Given the description of an element on the screen output the (x, y) to click on. 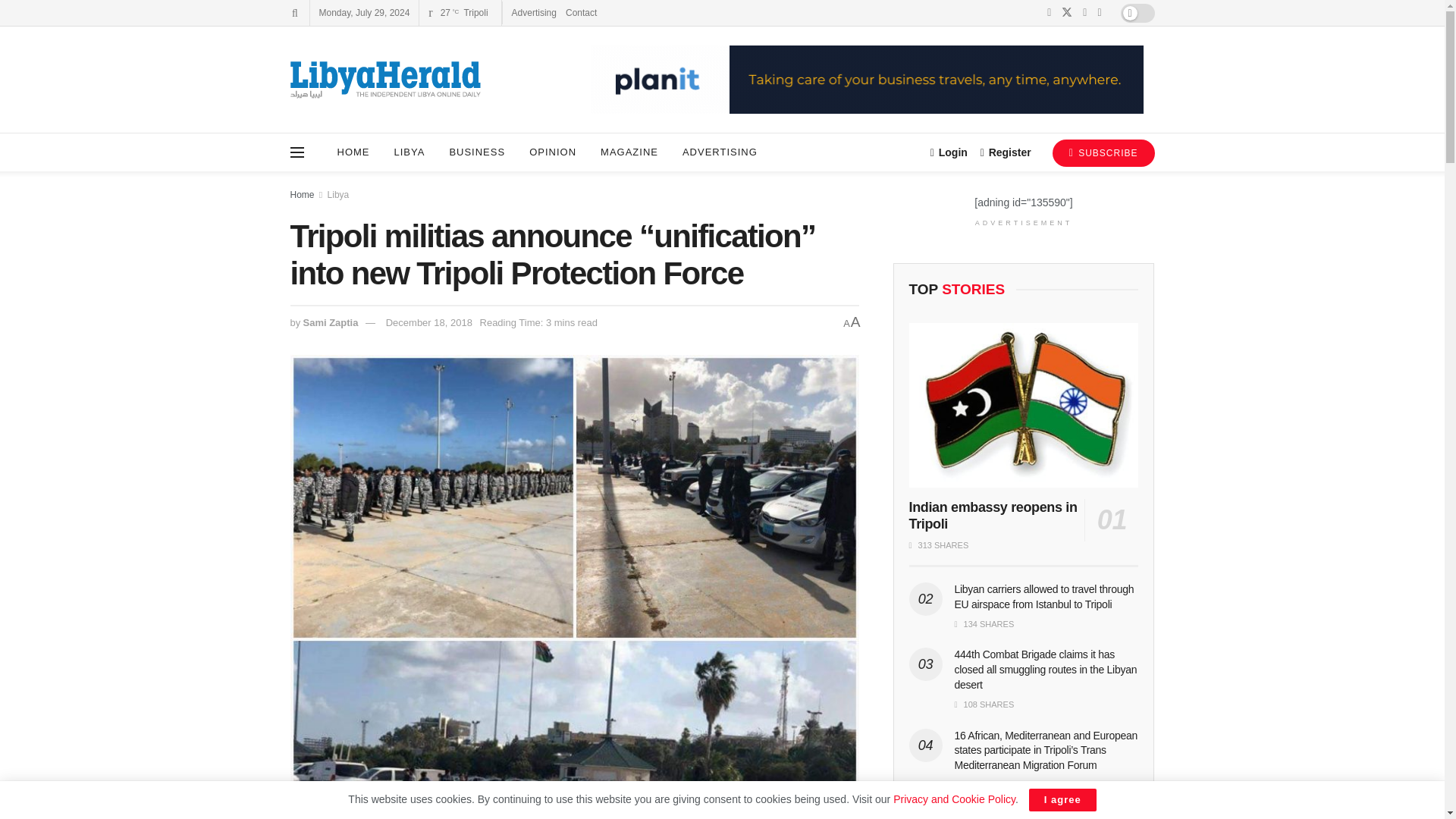
Home (301, 194)
OPINION (552, 152)
ADVERTISING (719, 152)
HOME (352, 152)
Advertising (534, 12)
SUBSCRIBE (1103, 153)
December 18, 2018 (428, 322)
Login (949, 152)
Libya (338, 194)
LIBYA (409, 152)
Register (1004, 152)
Sami Zaptia (330, 322)
BUSINESS (476, 152)
MAGAZINE (628, 152)
Contact (581, 12)
